Given the description of an element on the screen output the (x, y) to click on. 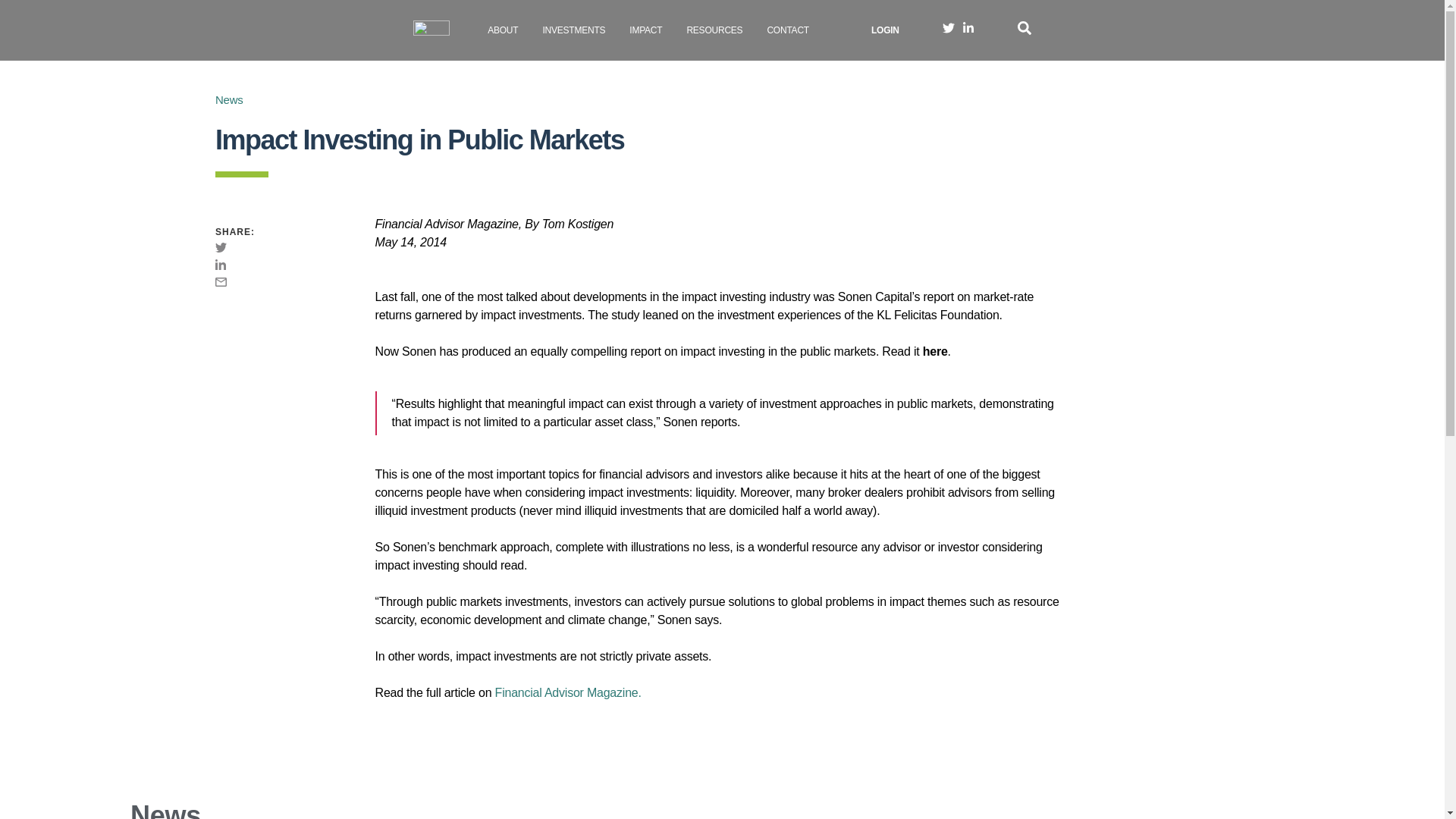
ABOUT (502, 30)
RESOURCES (713, 30)
CONTACT (788, 30)
INVESTMENTS (573, 30)
IMPACT (645, 30)
LOGIN (884, 30)
